Given the description of an element on the screen output the (x, y) to click on. 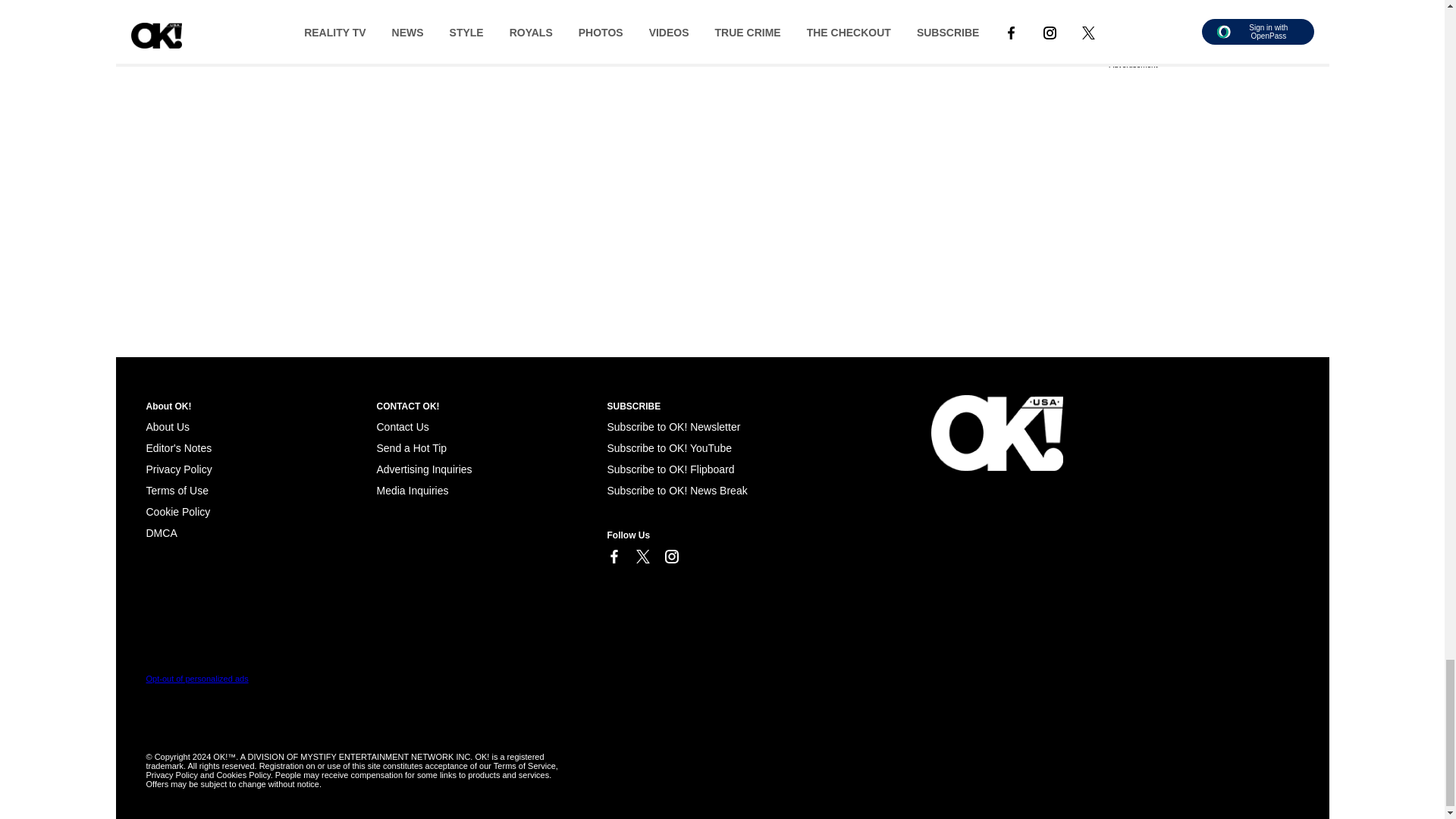
Privacy Policy (178, 469)
Editor's Notes (178, 448)
Contact Us (401, 426)
Send a Hot Tip (410, 448)
About Us (167, 426)
Link to Facebook (613, 556)
Link to X (641, 556)
Link to Instagram (670, 556)
Terms of Use (176, 490)
Cookie Policy (160, 532)
Cookie Policy (177, 511)
Advertising Inquiries (423, 469)
